Given the description of an element on the screen output the (x, y) to click on. 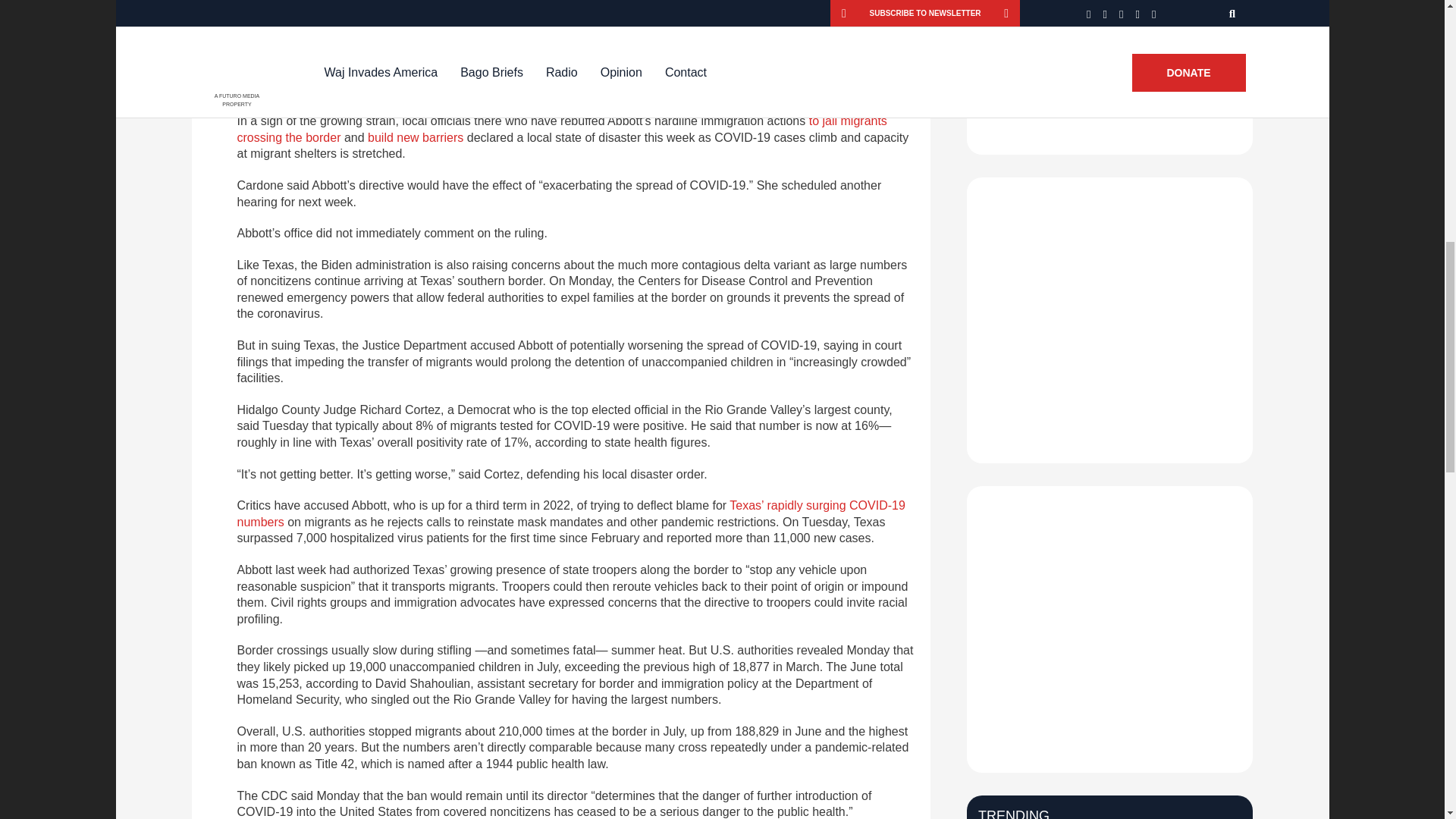
build new barriers (415, 137)
amid high levels of summer border crossings in Texas (565, 64)
to jail migrants crossing the border (560, 129)
